Given the description of an element on the screen output the (x, y) to click on. 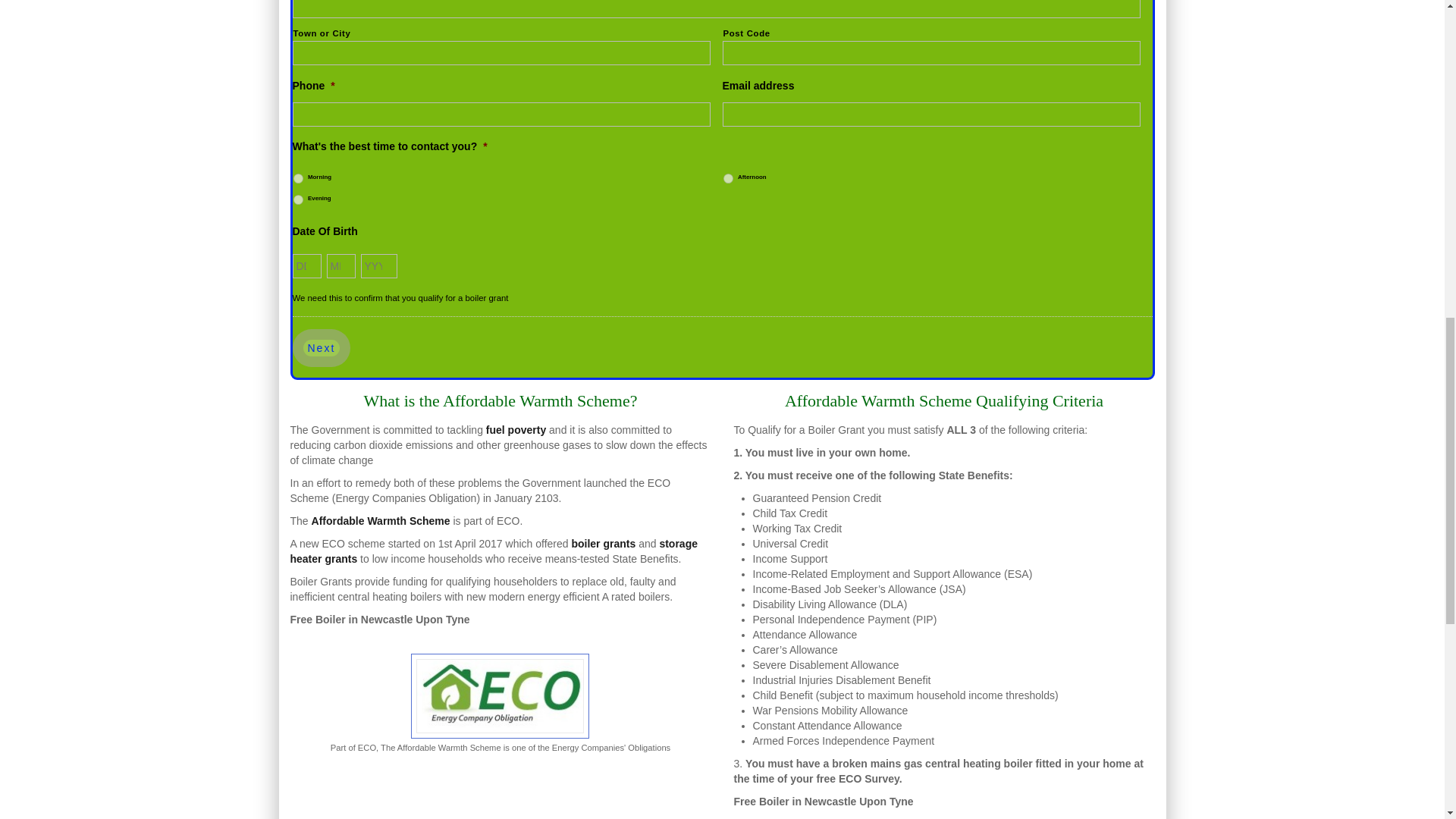
Evening (297, 199)
Afternoon (728, 178)
Next (321, 347)
Morning (297, 178)
